Given the description of an element on the screen output the (x, y) to click on. 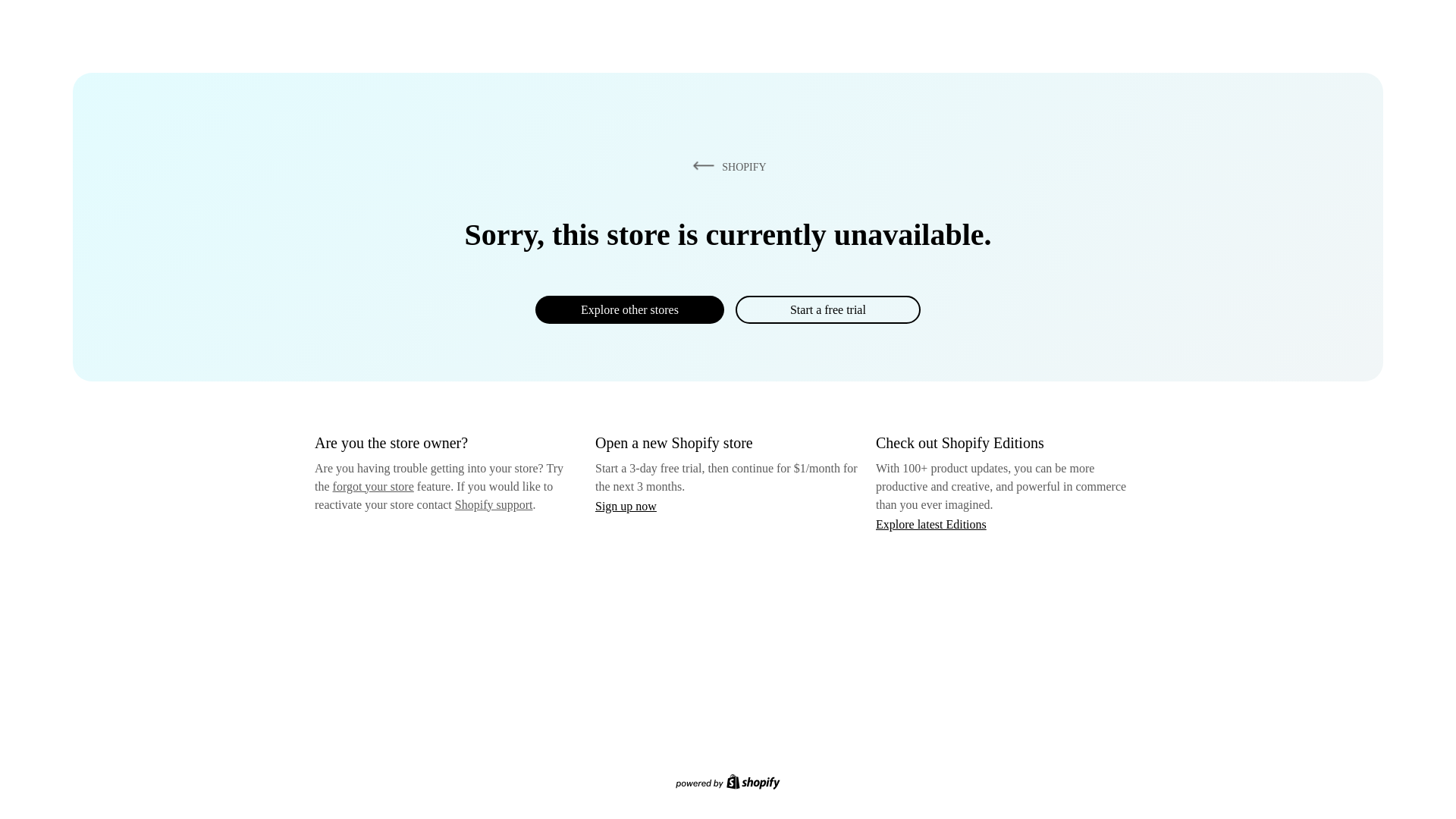
Sign up now (625, 505)
Start a free trial (827, 309)
Explore latest Editions (931, 523)
Explore other stores (629, 309)
Shopify support (493, 504)
SHOPIFY (726, 166)
forgot your store (373, 486)
